Given the description of an element on the screen output the (x, y) to click on. 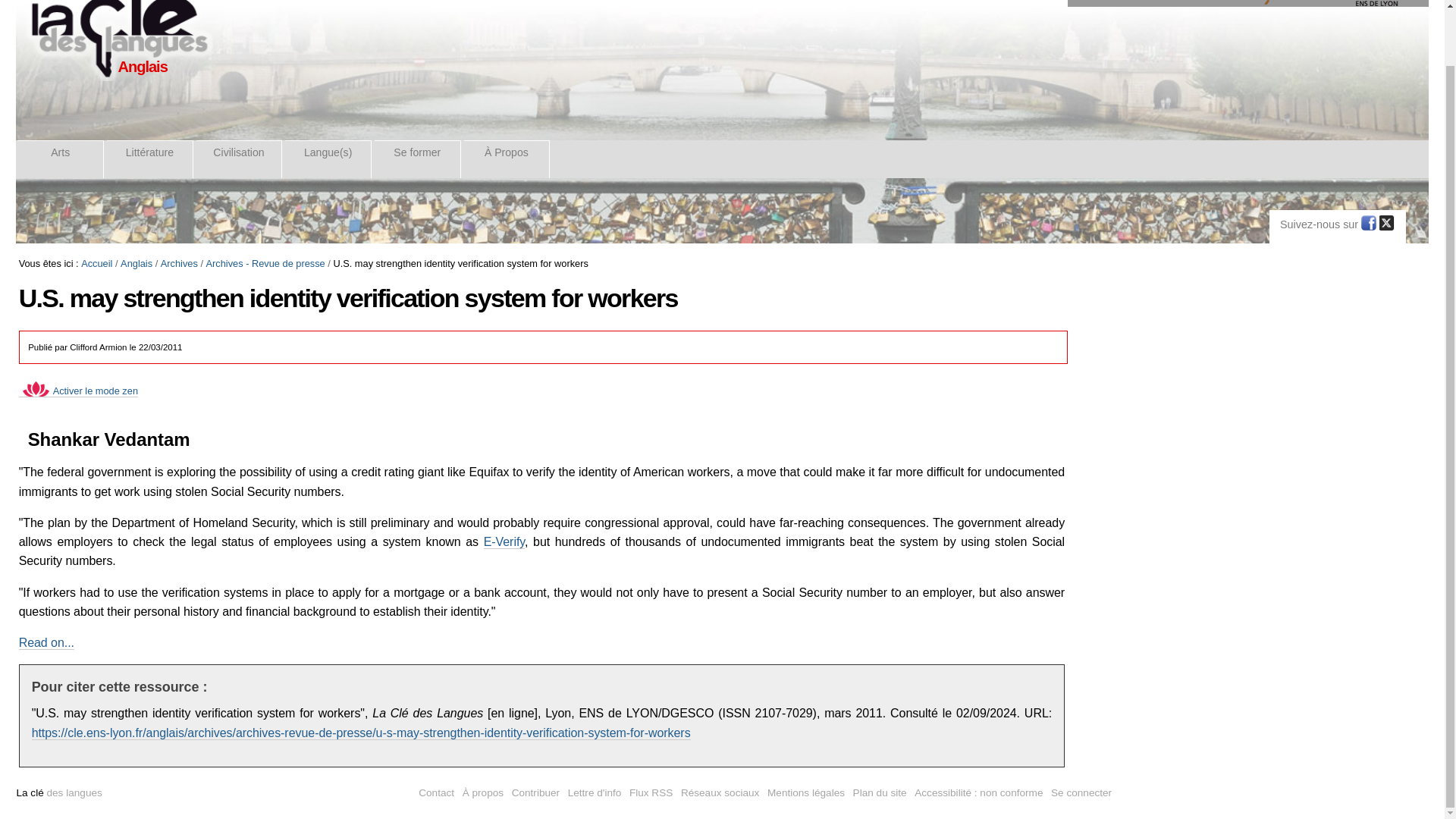
EduScol (1243, 2)
Civilisation (239, 158)
Se former (417, 158)
ENS Lyon (1358, 2)
Arts (60, 158)
Retour au portail (117, 40)
